Given the description of an element on the screen output the (x, y) to click on. 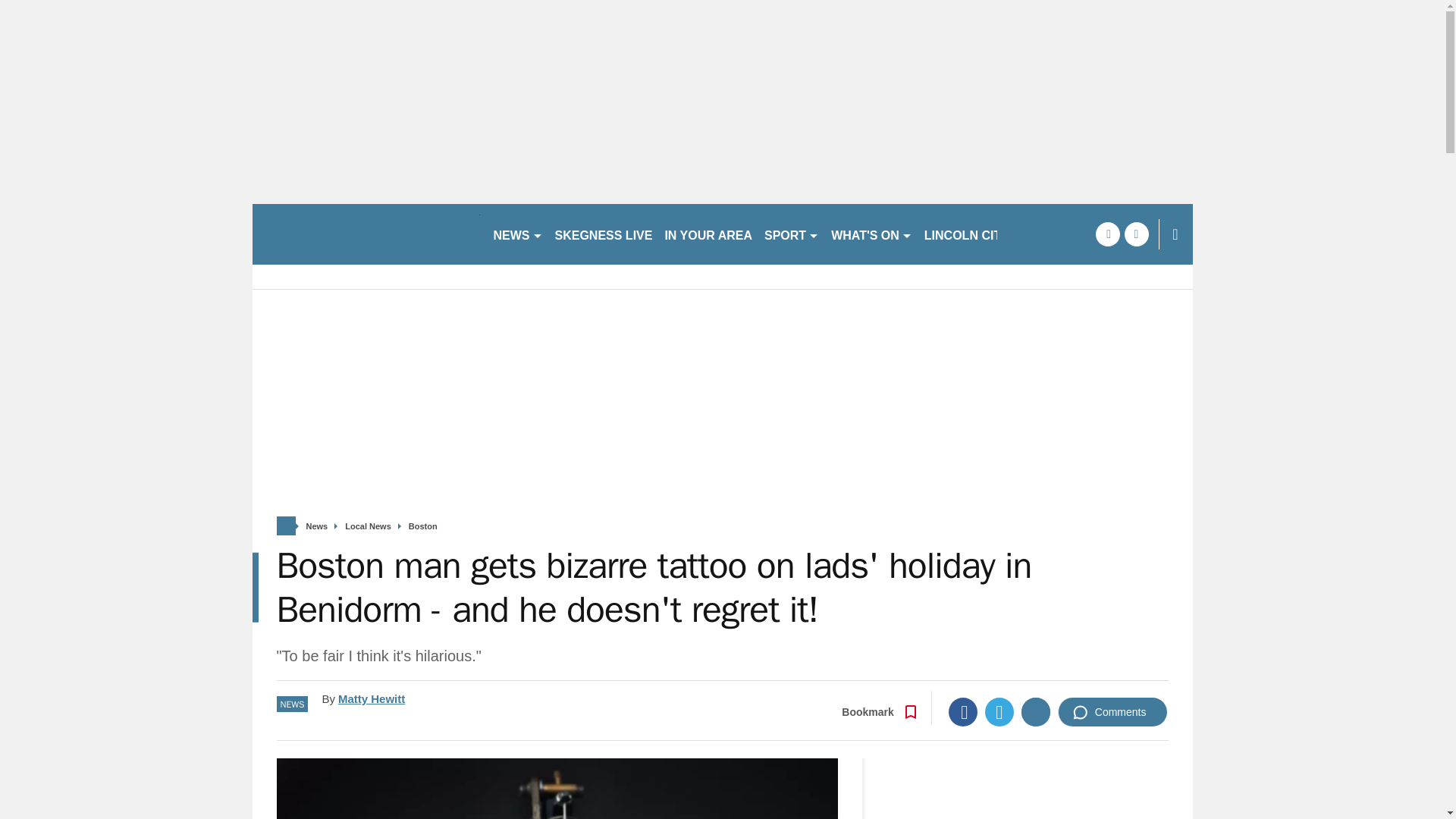
lincolnshirelive (365, 233)
twitter (1136, 233)
IN YOUR AREA (708, 233)
Comments (1112, 711)
Facebook (962, 711)
SKEGNESS LIVE (603, 233)
LINCOLN CITY FC (975, 233)
facebook (1106, 233)
NEWS (517, 233)
Twitter (999, 711)
WHAT'S ON (871, 233)
SPORT (791, 233)
